Given the description of an element on the screen output the (x, y) to click on. 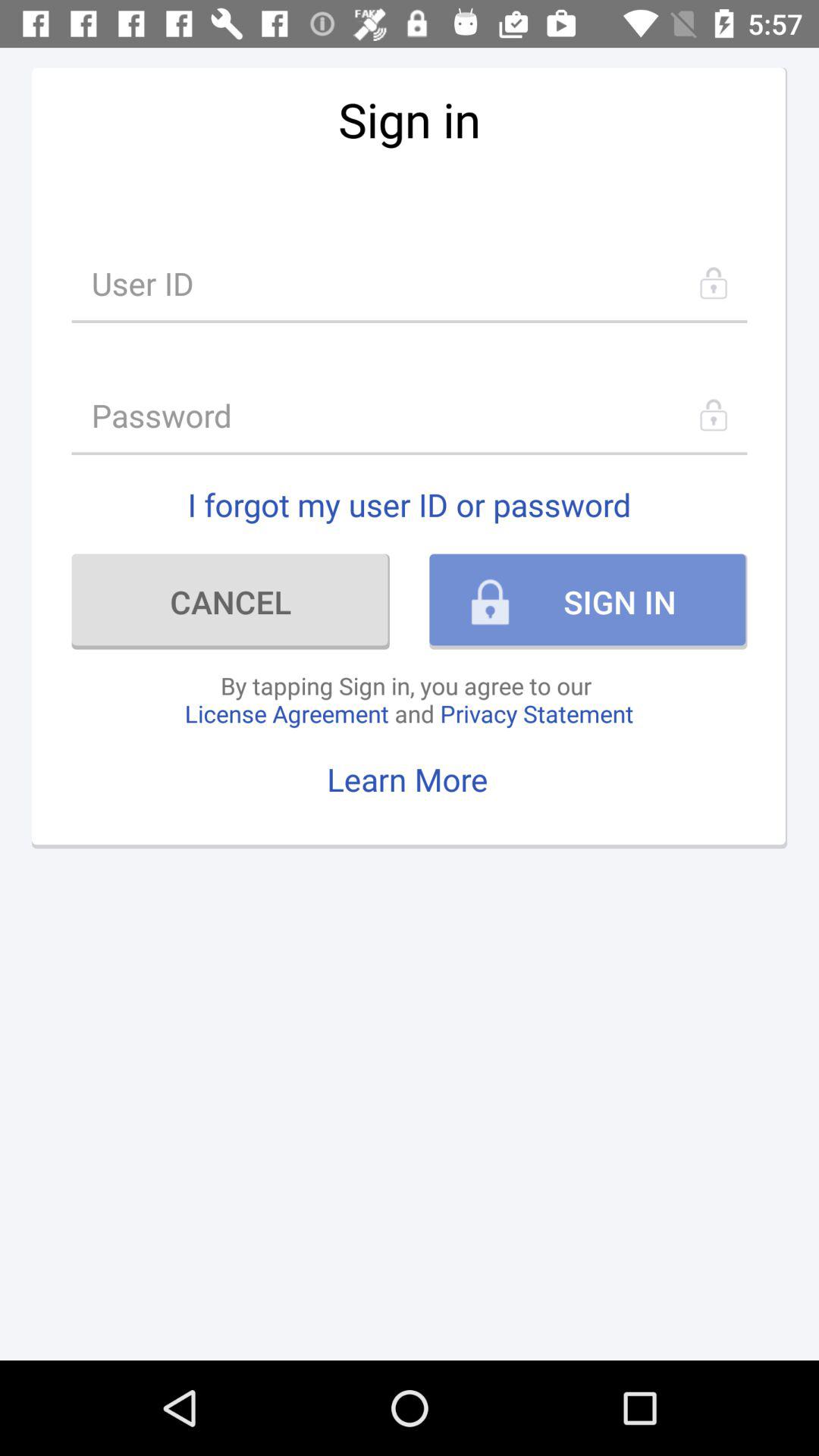
turn off item below the cancel (408, 699)
